Given the description of an element on the screen output the (x, y) to click on. 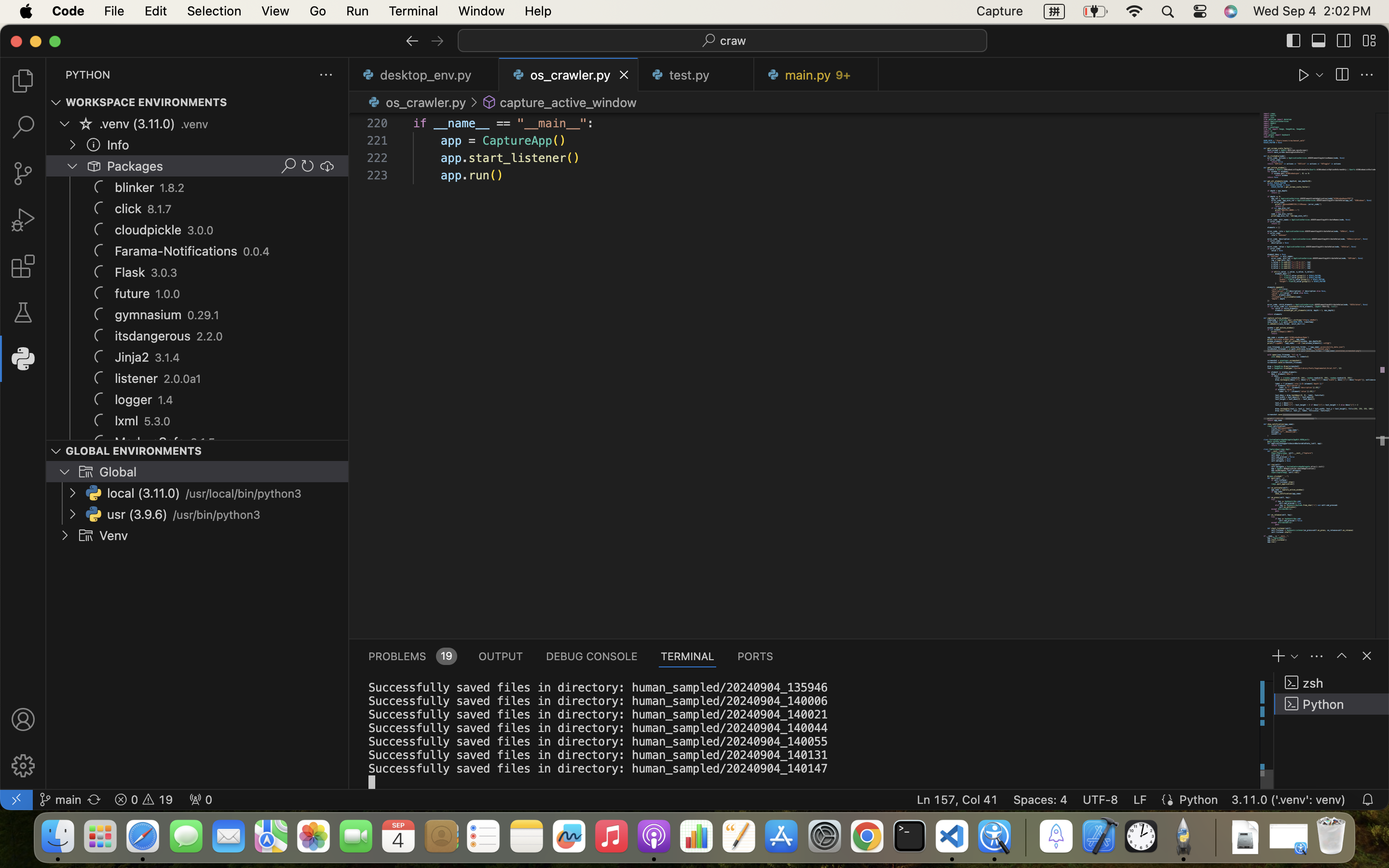
Packages Element type: AXStaticText (135, 166)
0 PROBLEMS 19 Element type: AXRadioButton (411, 655)
/usr/local/bin/python3 Element type: AXStaticText (243, 493)
Flask Element type: AXStaticText (129, 272)
8.1.7 Element type: AXStaticText (159, 209)
